Given the description of an element on the screen output the (x, y) to click on. 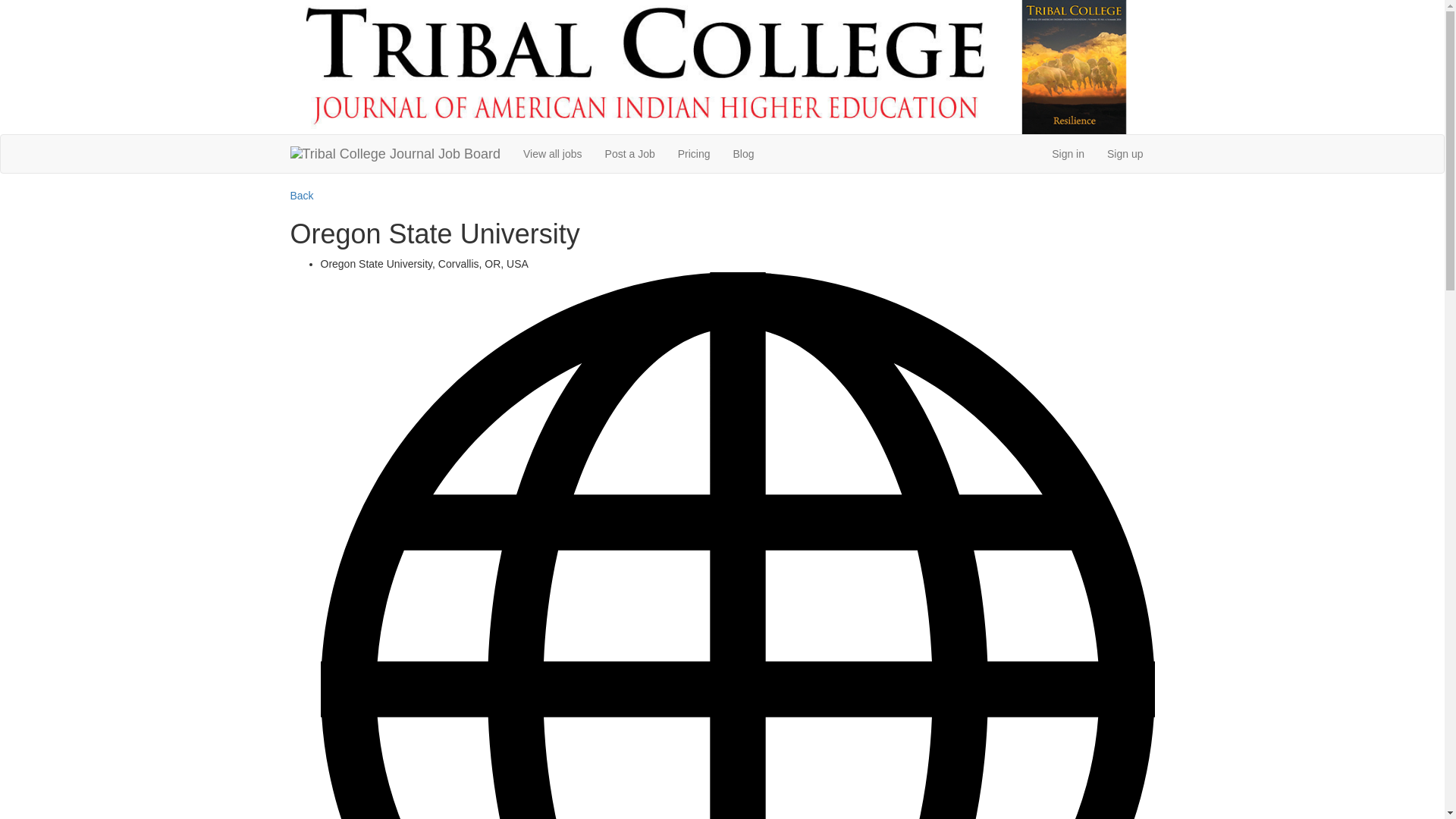
Sign in (1068, 153)
Post a Job (630, 153)
Blog (743, 153)
Back (301, 195)
View all jobs (553, 153)
Sign up (1125, 153)
Pricing (694, 153)
